Given the description of an element on the screen output the (x, y) to click on. 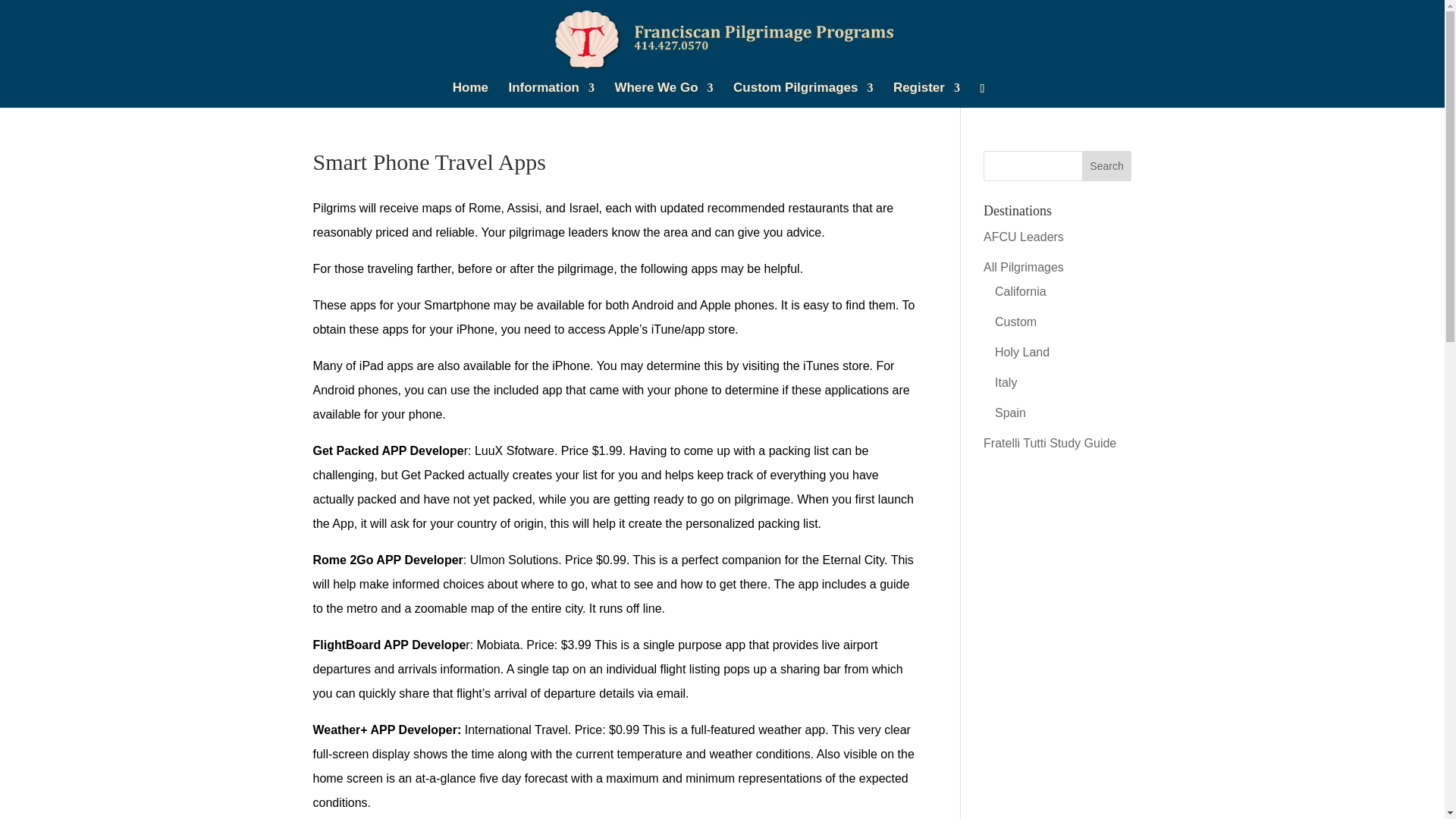
Home (469, 94)
Information (551, 94)
Custom Pilgrimages (802, 94)
Search (1106, 165)
Register (926, 94)
Where We Go (663, 94)
